Given the description of an element on the screen output the (x, y) to click on. 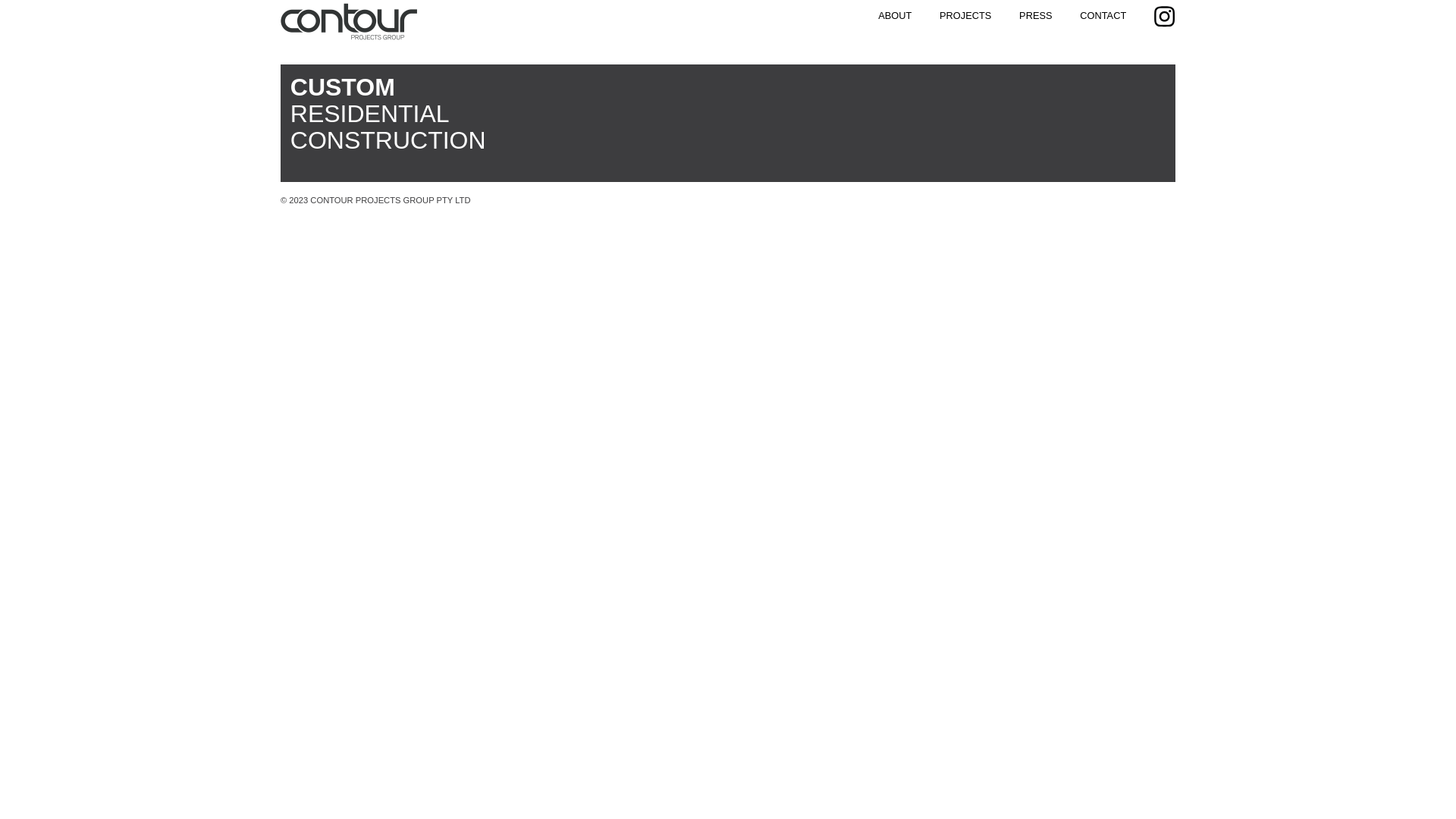
ABOUT Element type: text (894, 15)
CONTACT Element type: text (1102, 15)
PRESS Element type: text (1035, 15)
PROJECTS Element type: text (965, 15)
